Given the description of an element on the screen output the (x, y) to click on. 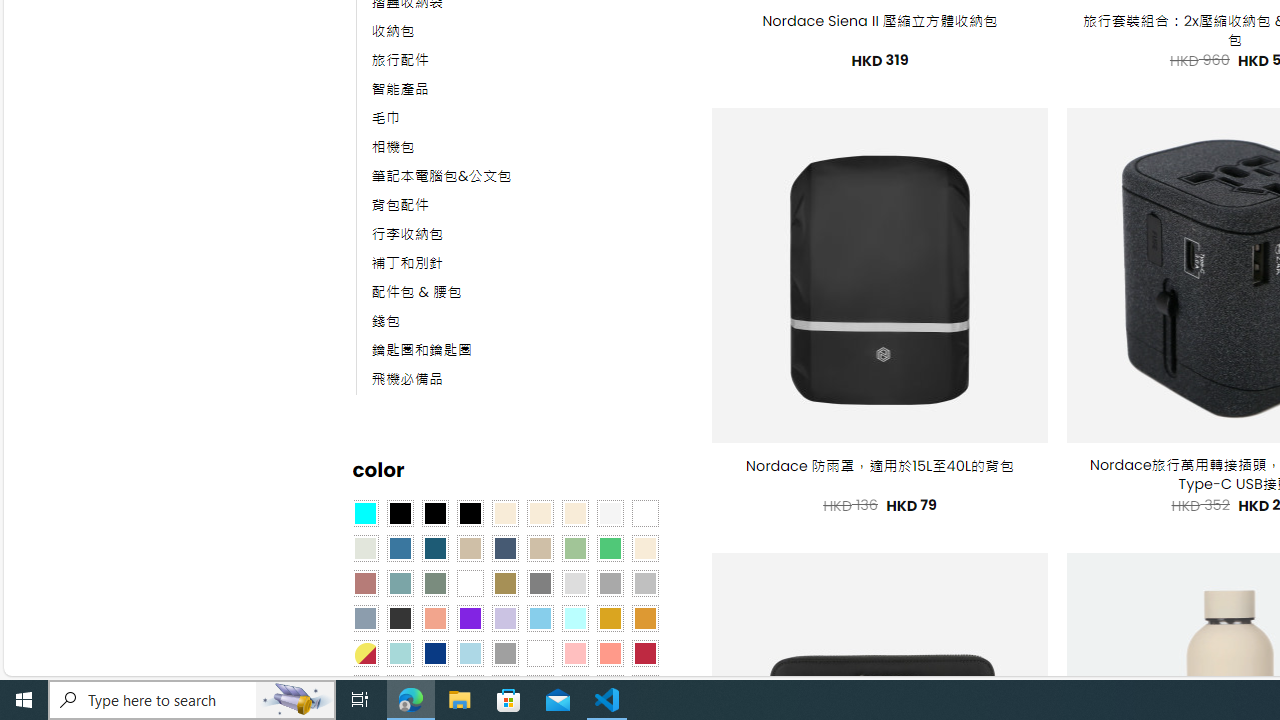
Cream (574, 514)
